Given the description of an element on the screen output the (x, y) to click on. 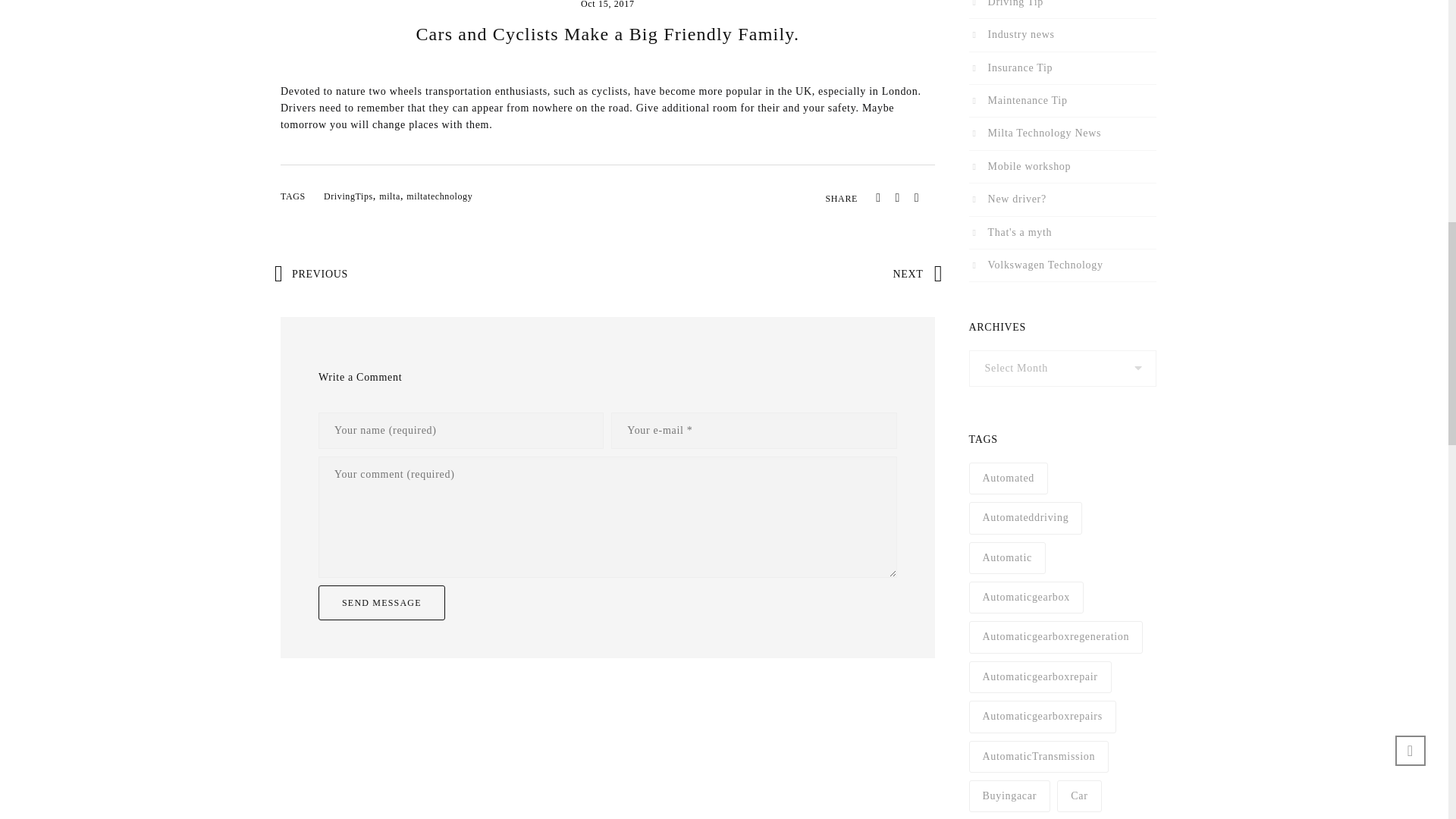
Send message (381, 602)
